Given the description of an element on the screen output the (x, y) to click on. 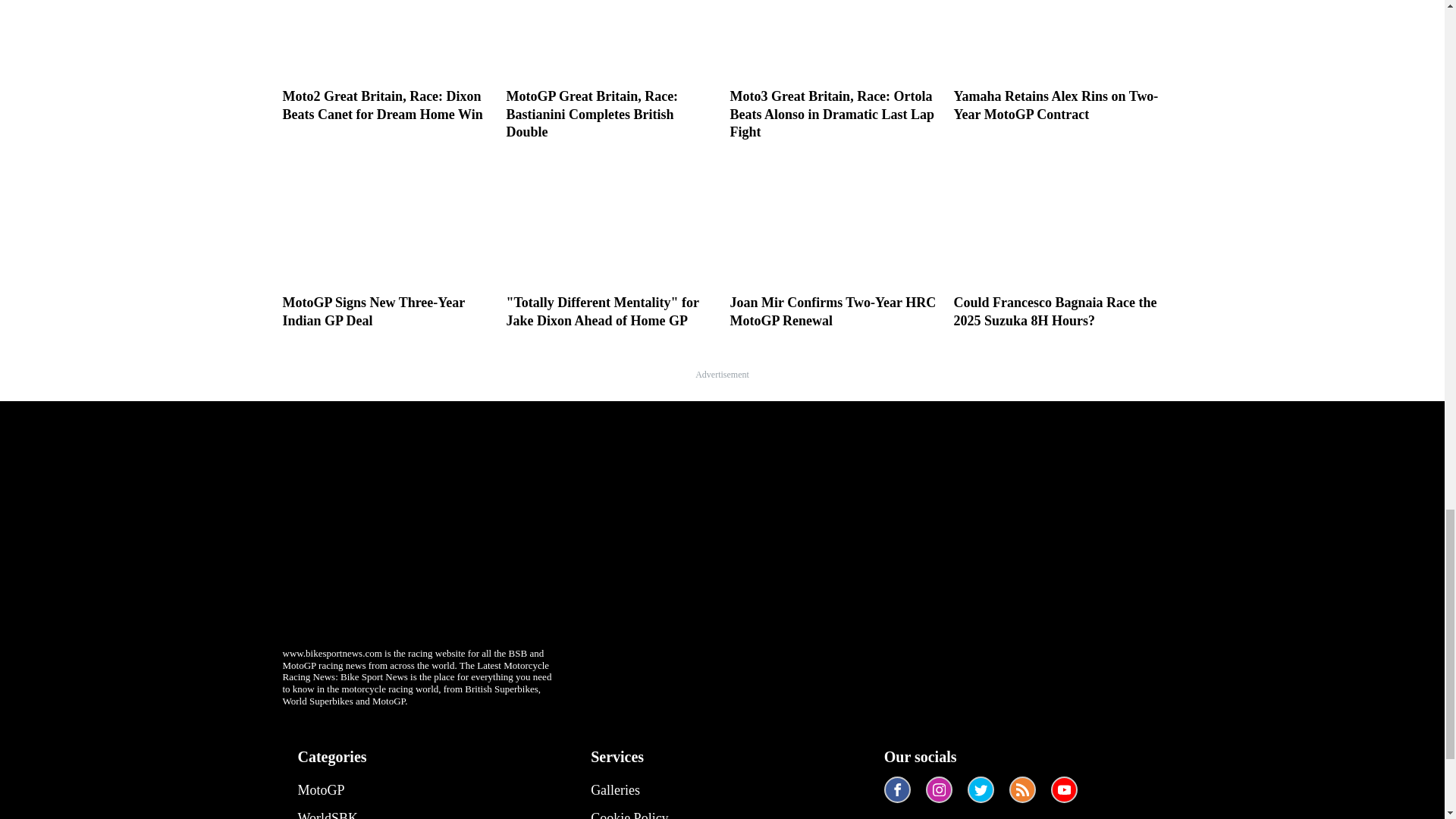
Joan Mir Confirms Two-Year HRC MotoGP Renewal (833, 243)
Yamaha Retains Alex Rins on Two-Year MotoGP Contract (1057, 61)
MotoGP Signs New Three-Year Indian GP Deal (386, 243)
Could Francesco Bagnaia Race the 2025 Suzuka 8H Hours? (1057, 243)
